Given the description of an element on the screen output the (x, y) to click on. 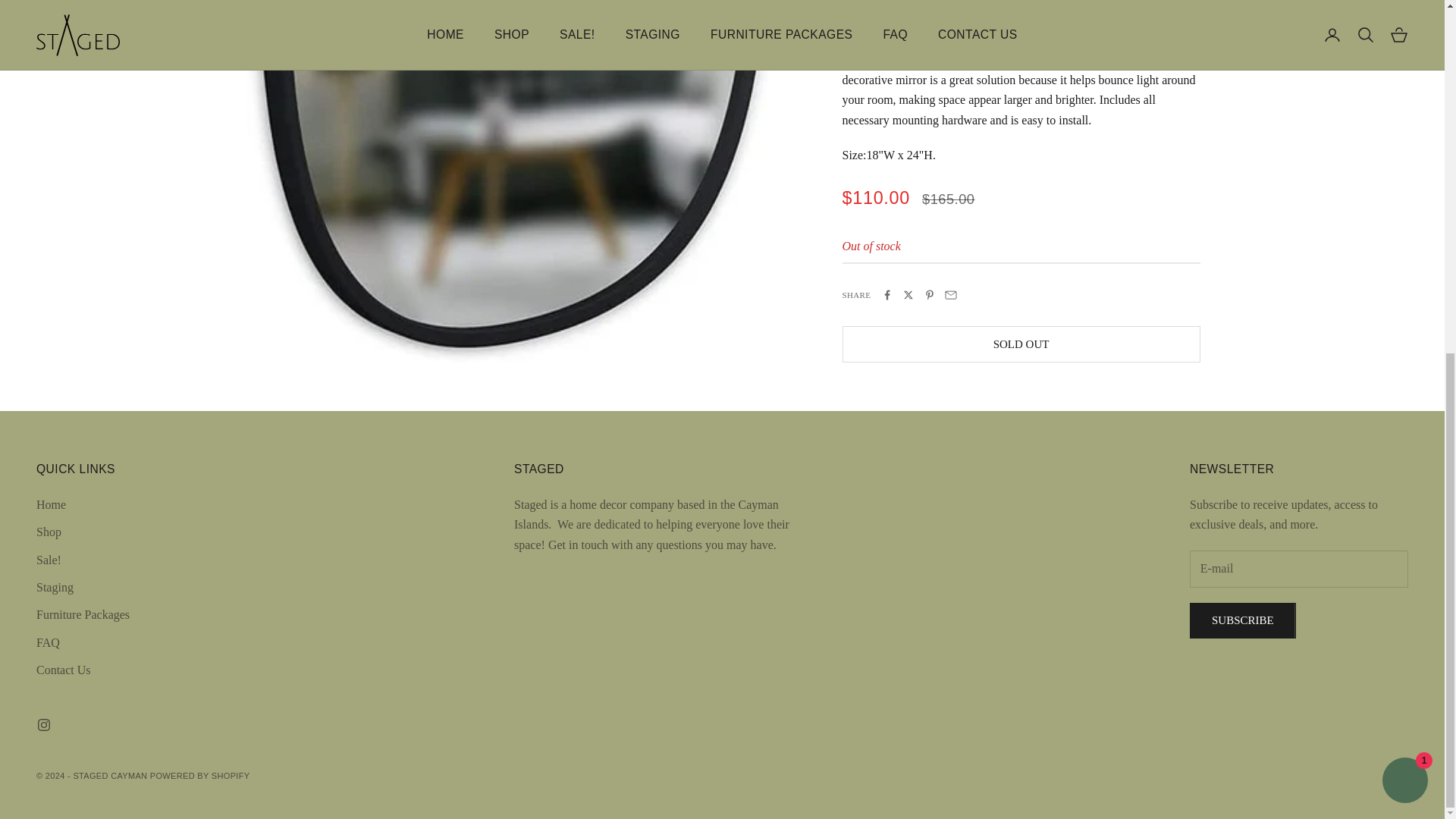
SUBSCRIBE (1242, 620)
Shop (48, 531)
POWERED BY SHOPIFY (199, 775)
Home (50, 504)
Sale! (48, 559)
Staging (55, 586)
Furniture Packages (82, 614)
Contact Us (63, 669)
Shopify online store chat (1404, 165)
FAQ (47, 642)
